Given the description of an element on the screen output the (x, y) to click on. 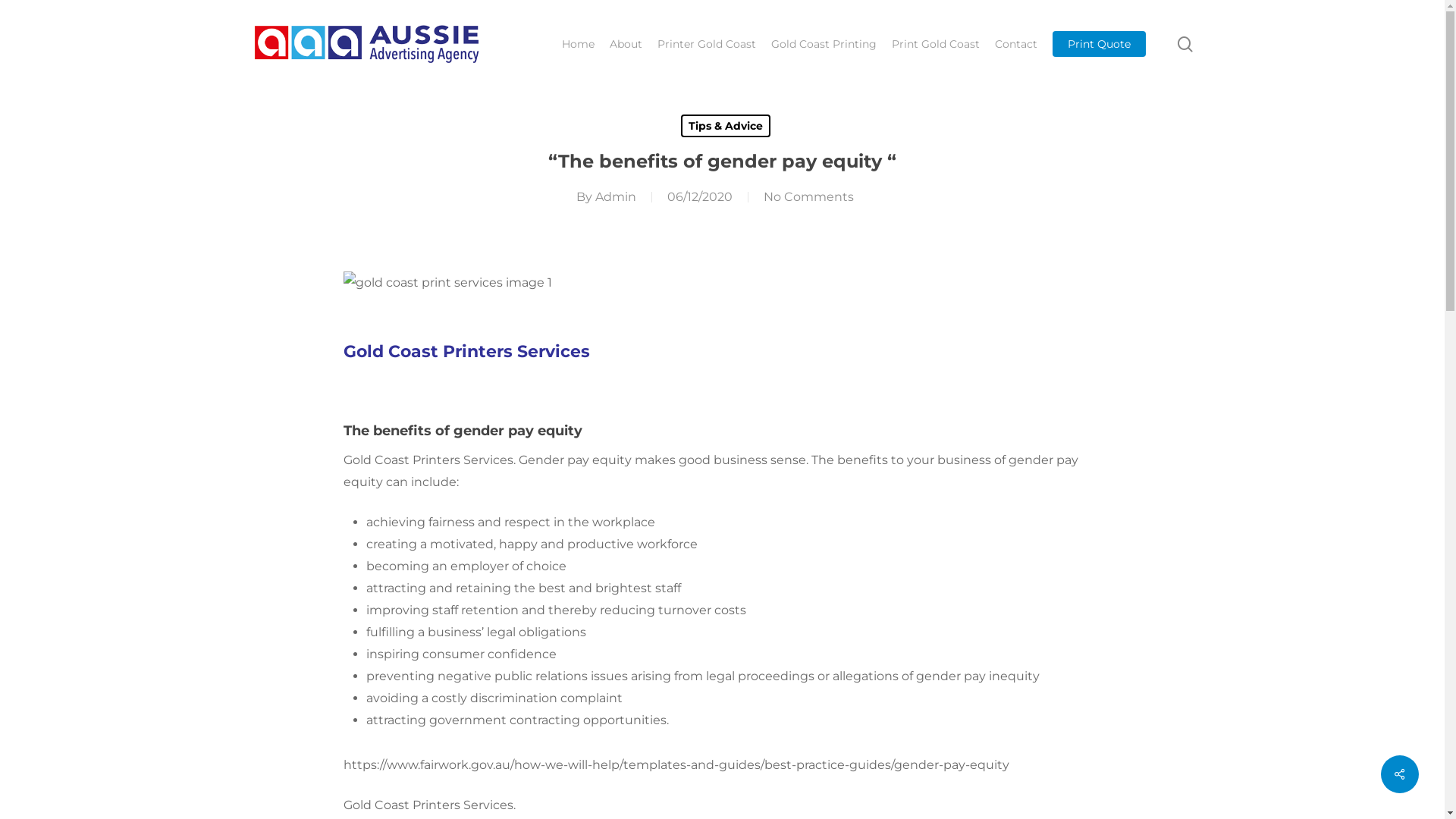
Printer Gold Coast Element type: text (706, 43)
Print Gold Coast Element type: text (935, 43)
Gold Coast Printing Element type: text (823, 43)
Tips & Advice Element type: text (725, 125)
Contact Element type: text (1015, 43)
Home Element type: text (577, 43)
No Comments Element type: text (807, 196)
search Element type: text (1185, 44)
Print Quote Element type: text (1098, 43)
About Element type: text (625, 43)
Admin Element type: text (614, 196)
